Given the description of an element on the screen output the (x, y) to click on. 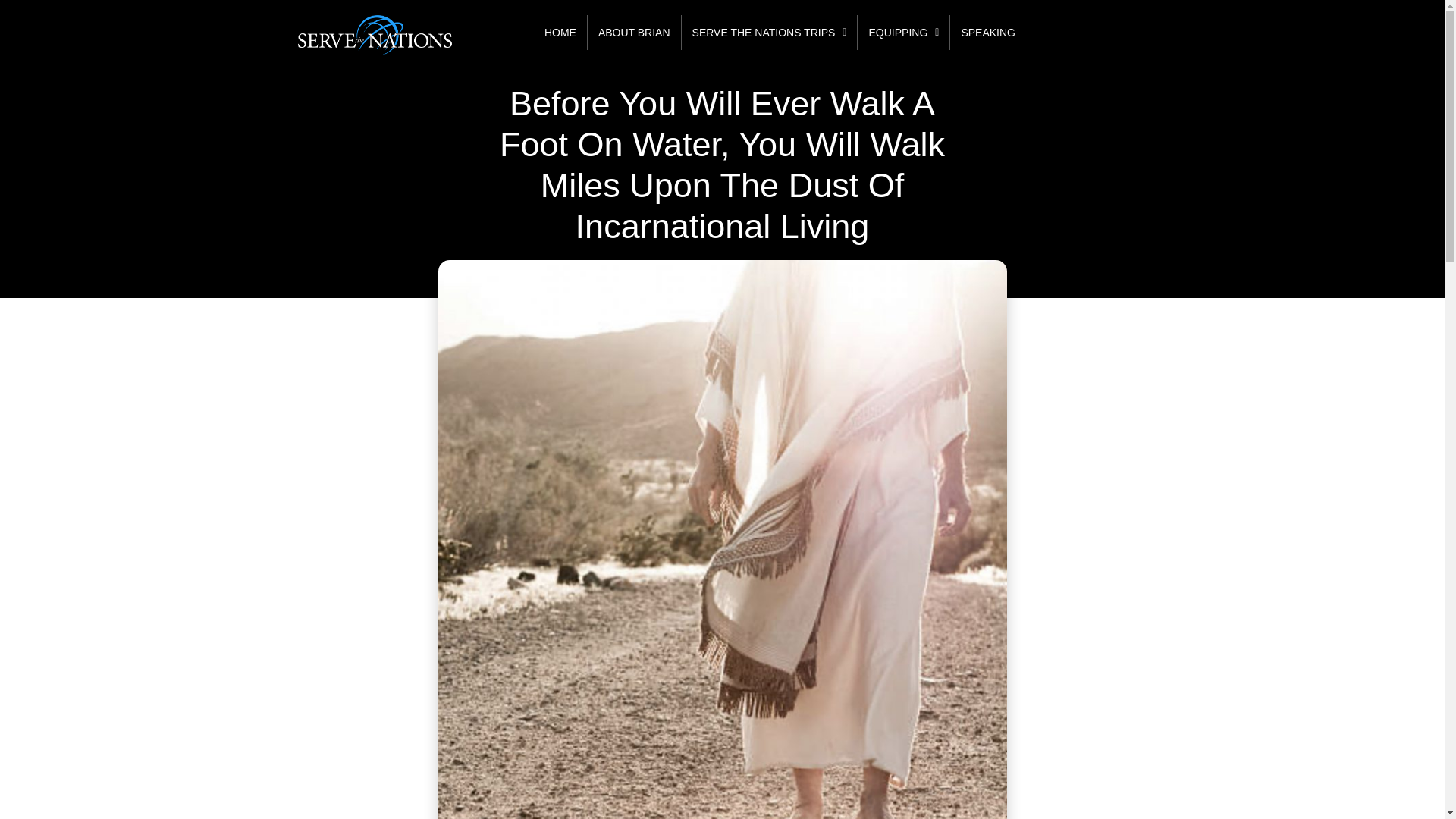
SPEAKING (988, 32)
HOME (560, 32)
EQUIPPING (903, 32)
ABOUT BRIAN (634, 32)
SERVE THE NATIONS TRIPS (769, 32)
March 2, 2021 (721, 273)
